Given the description of an element on the screen output the (x, y) to click on. 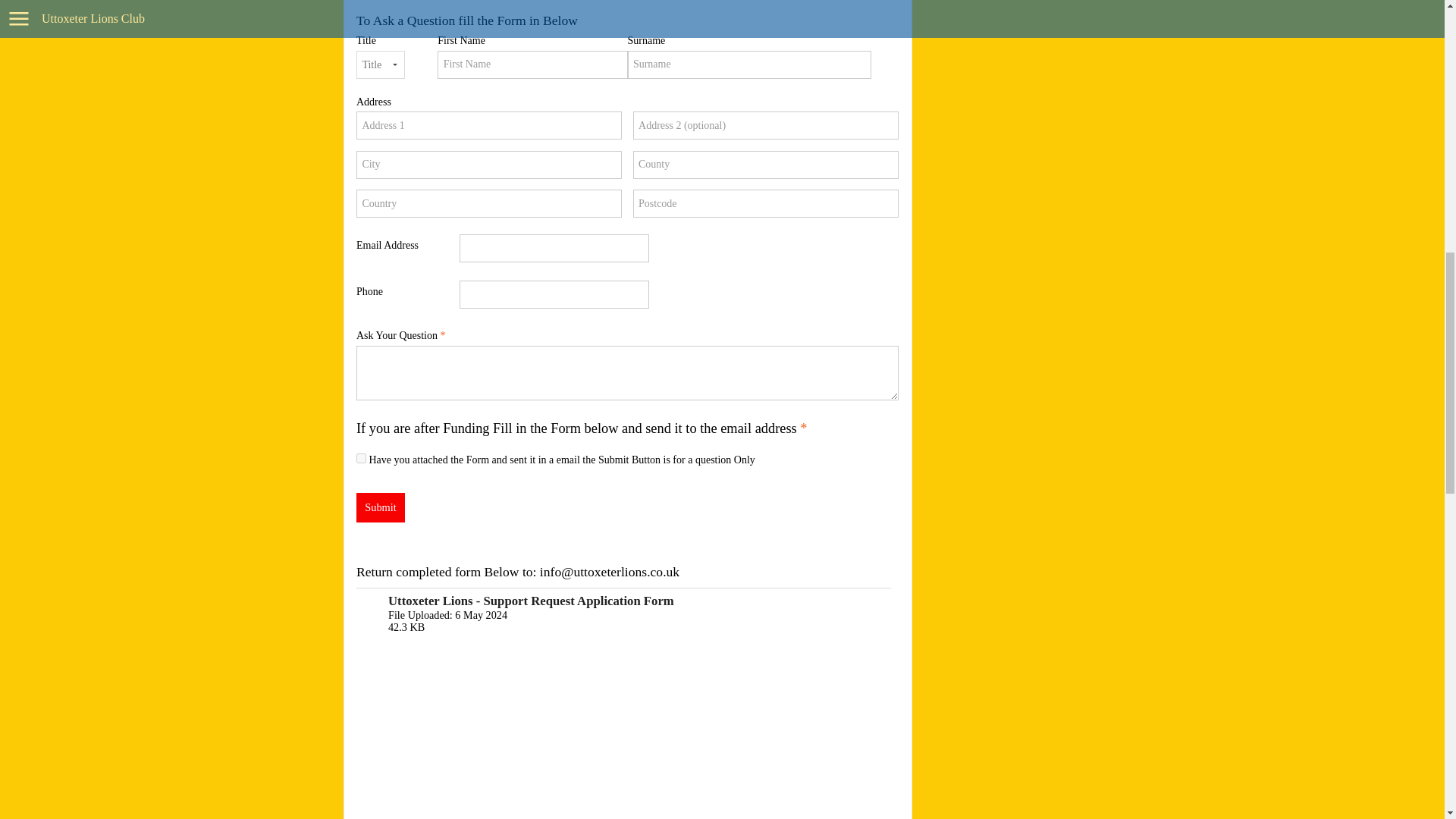
Click to download file (623, 614)
39081 (361, 458)
Submit (380, 507)
